Given the description of an element on the screen output the (x, y) to click on. 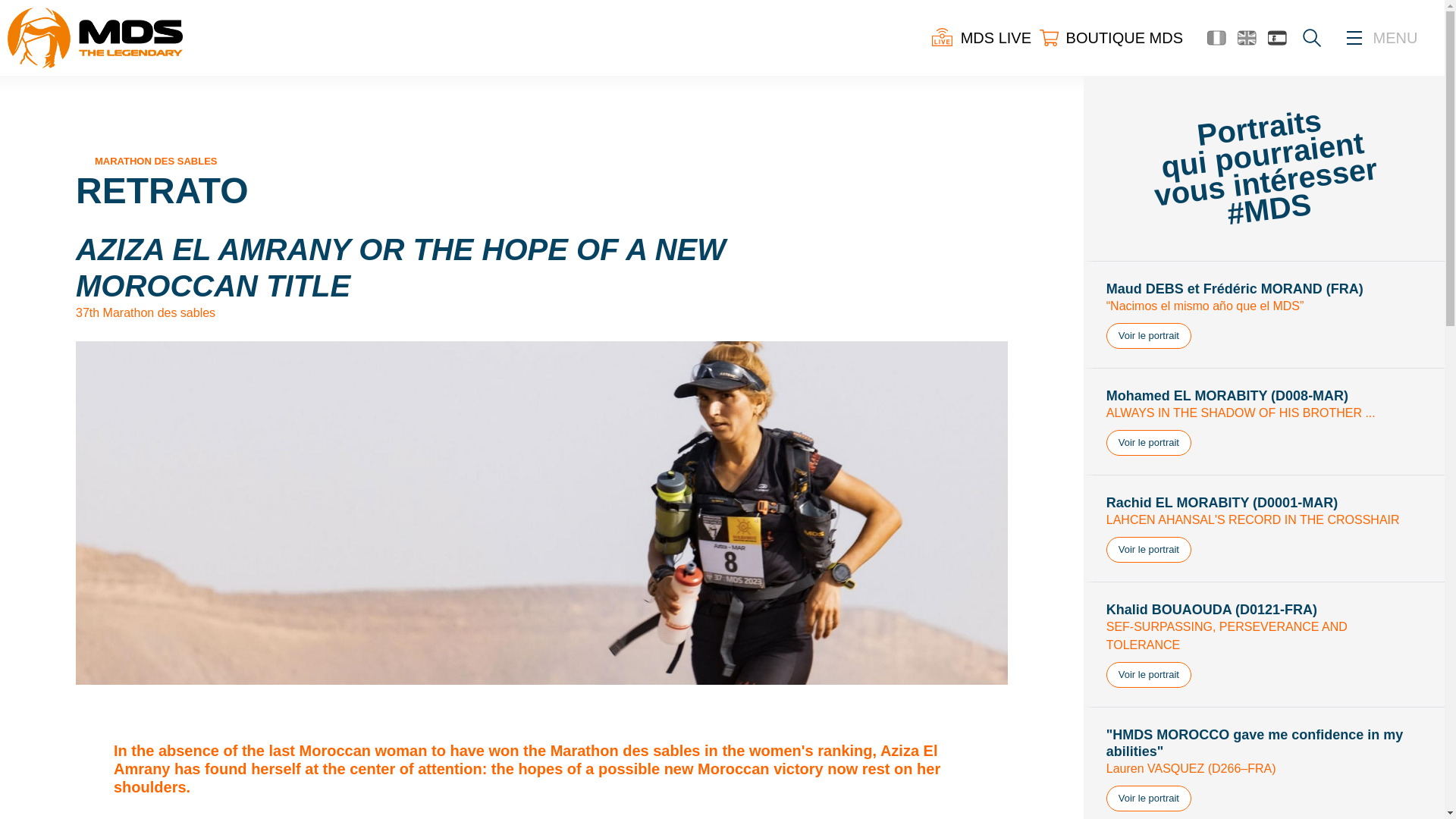
MENU (1394, 38)
BOUTIQUE MDS (1110, 37)
RETRATO (161, 190)
MDS LIVE (980, 37)
